Given the description of an element on the screen output the (x, y) to click on. 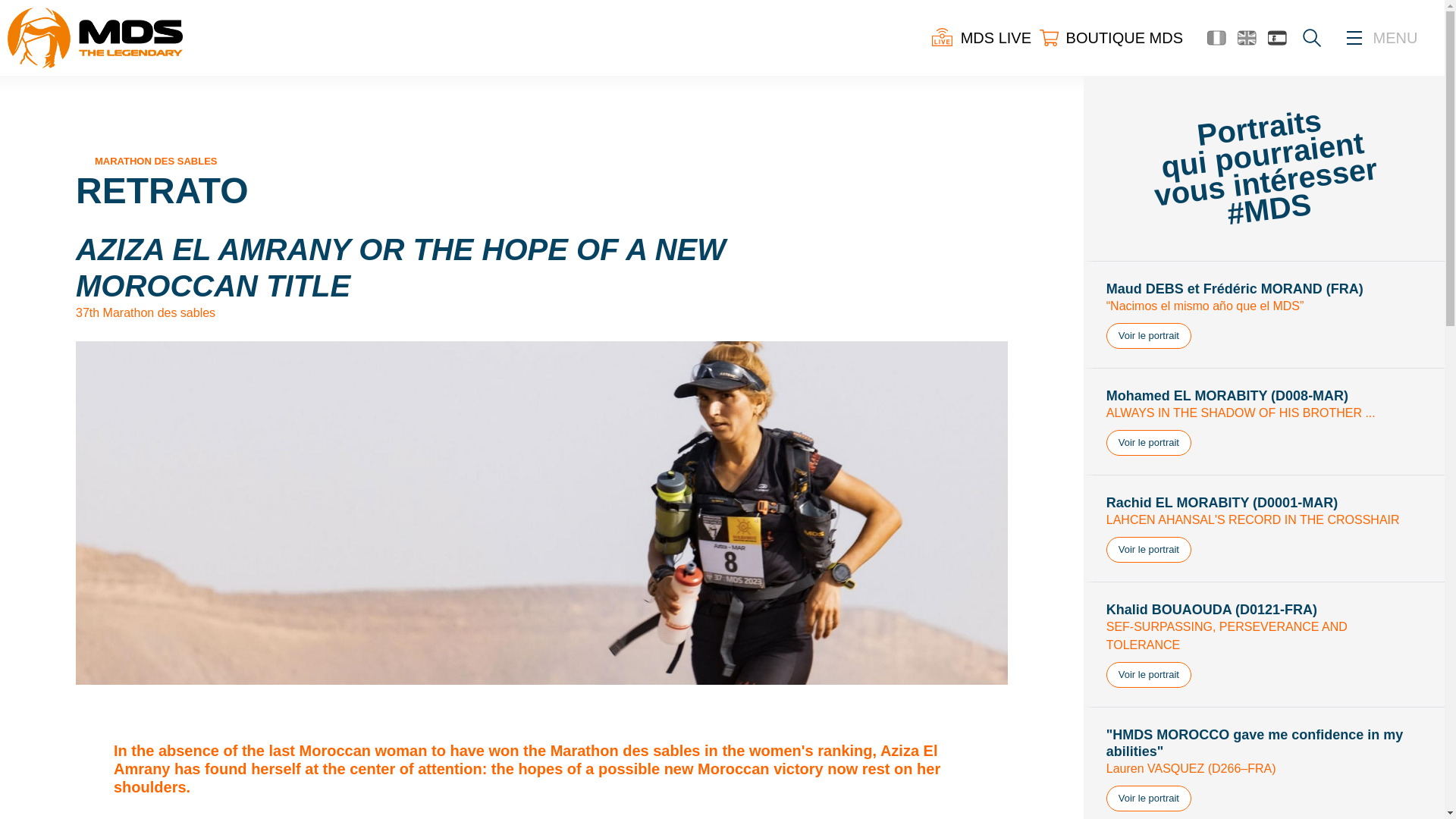
MENU (1394, 38)
BOUTIQUE MDS (1110, 37)
RETRATO (161, 190)
MDS LIVE (980, 37)
